Given the description of an element on the screen output the (x, y) to click on. 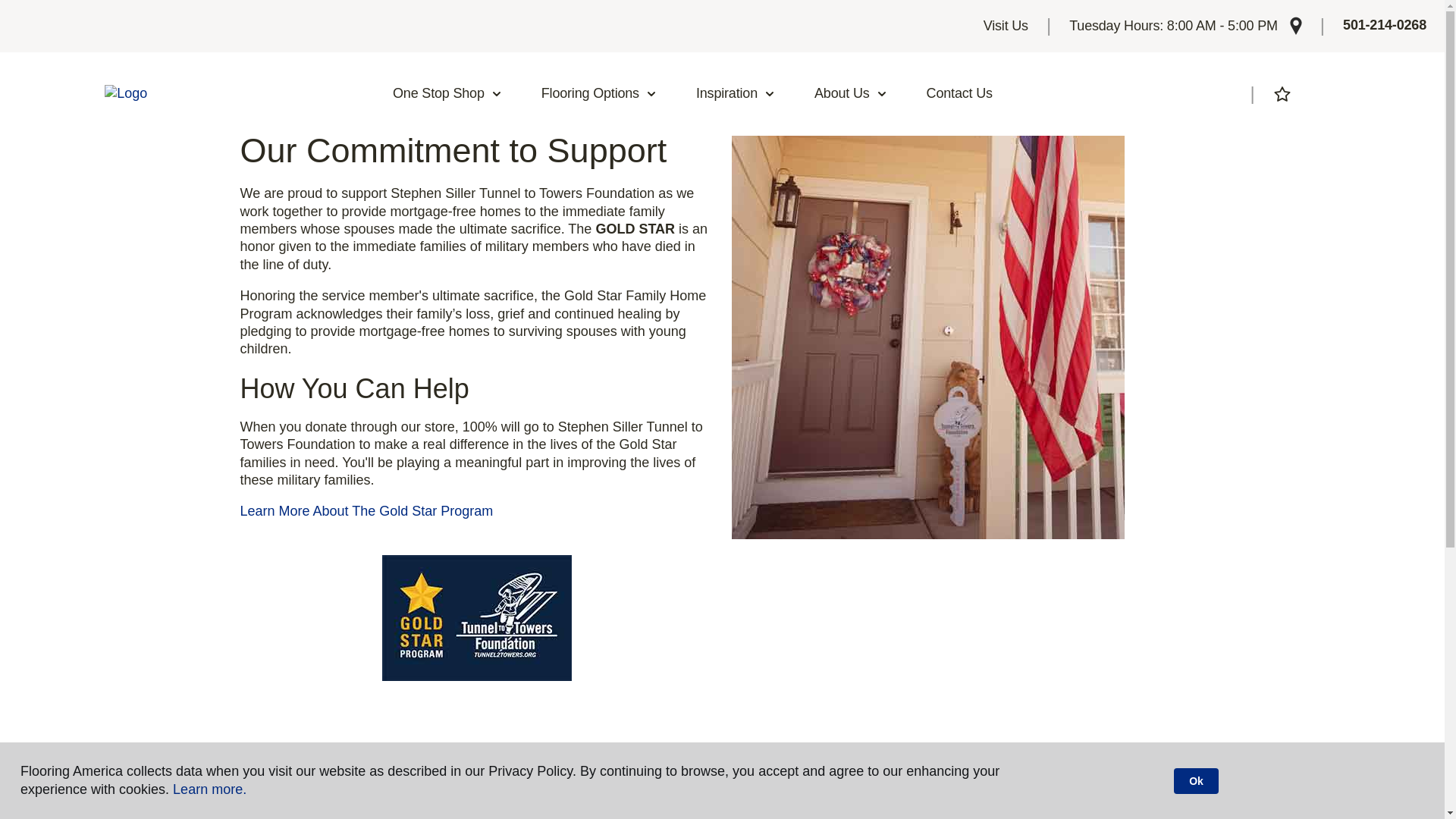
Flooring Options (598, 94)
About Us (850, 94)
501-214-0268 (1384, 25)
Inspiration (735, 94)
Visit Us (1005, 26)
Contact Us (960, 94)
One Stop Shop (447, 94)
